Given the description of an element on the screen output the (x, y) to click on. 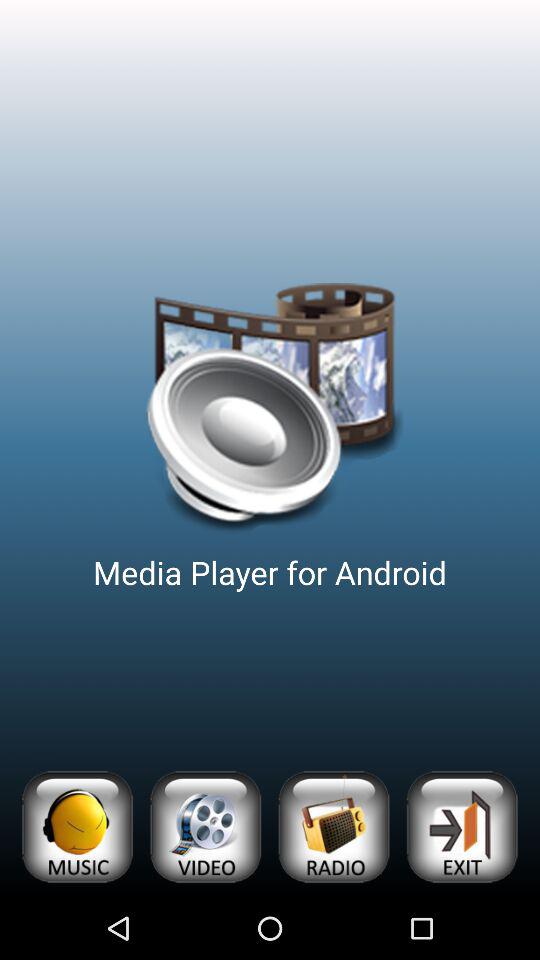
exit app (461, 826)
